Given the description of an element on the screen output the (x, y) to click on. 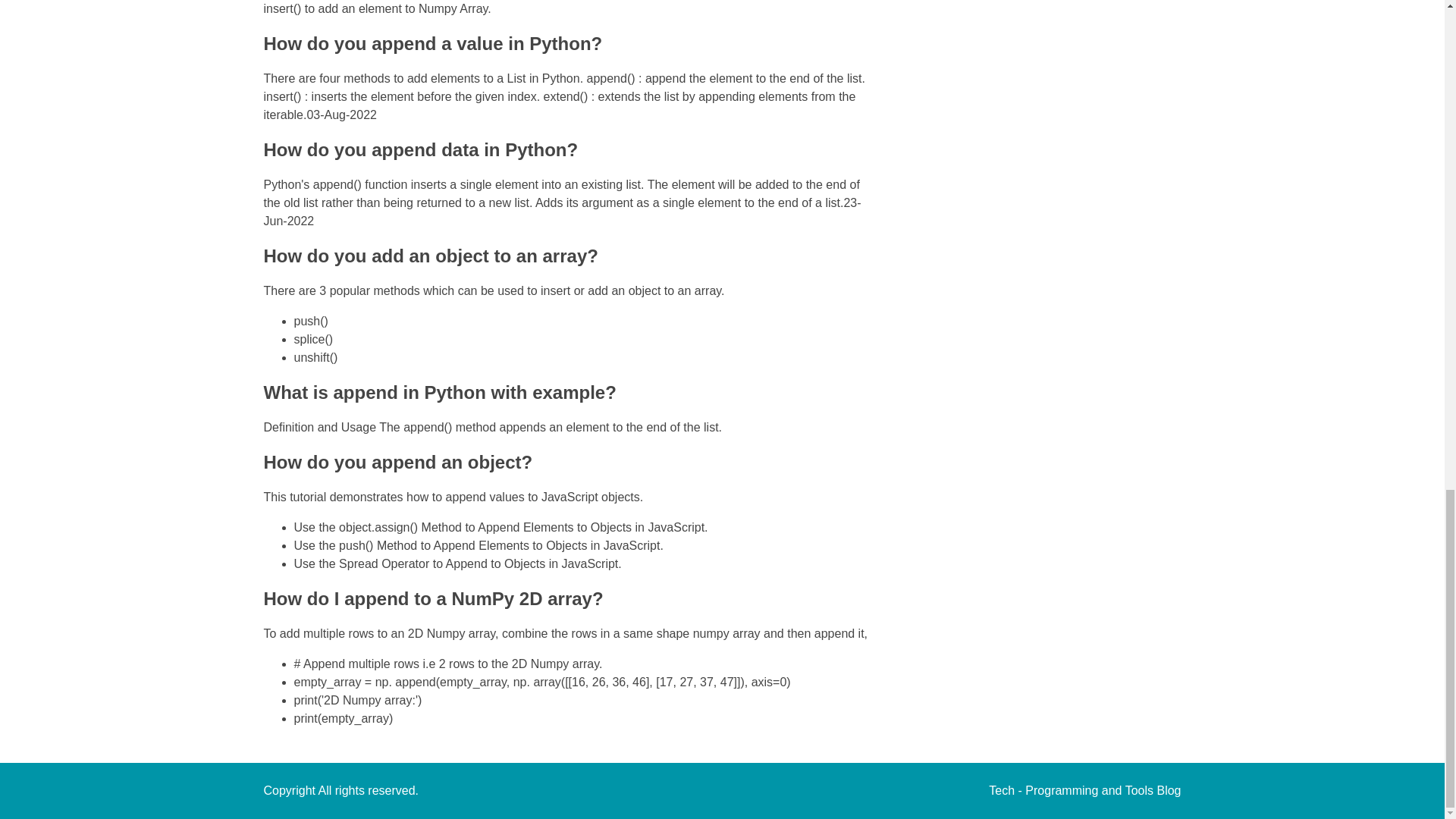
Tech - Programming and Tools Blog (1084, 790)
